Given the description of an element on the screen output the (x, y) to click on. 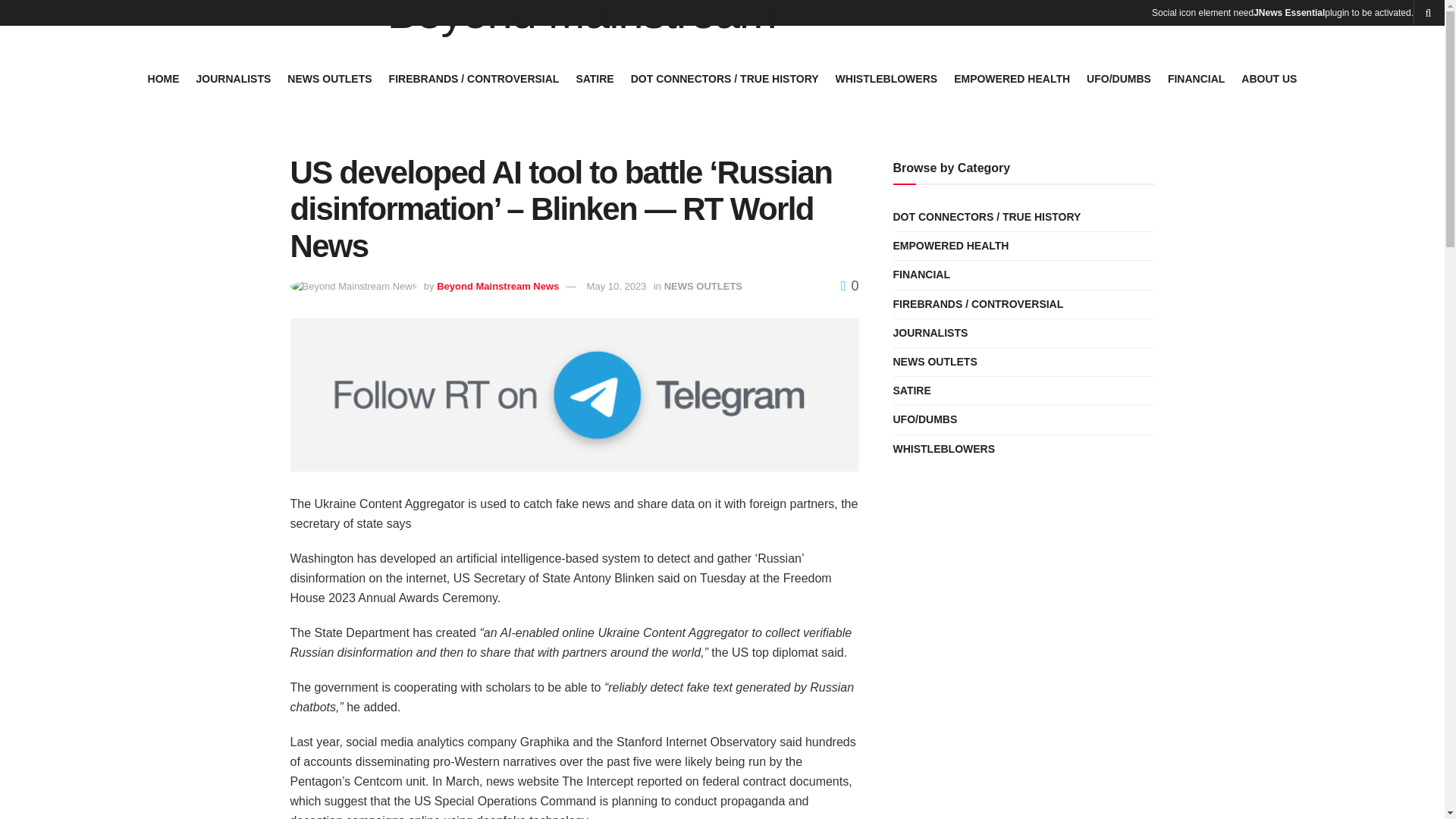
SATIRE (593, 78)
EMPOWERED HEALTH (1011, 78)
JOURNALISTS (233, 78)
HOME (163, 78)
NEWS OUTLETS (328, 78)
Beyond Mainstream News (497, 285)
0 (850, 285)
ABOUT US (1269, 78)
FINANCIAL (1195, 78)
Beyond Mainstream (581, 18)
